Given the description of an element on the screen output the (x, y) to click on. 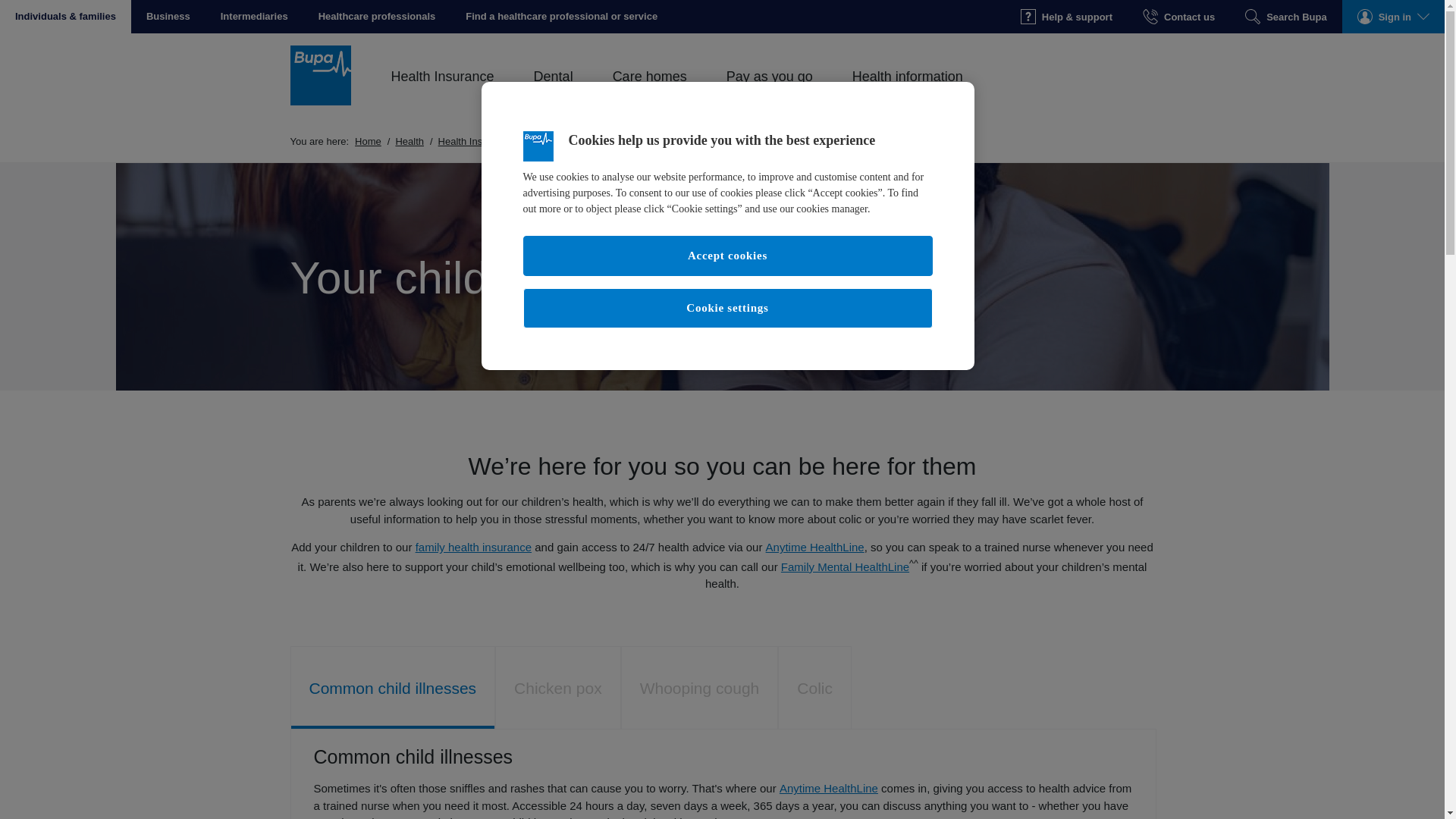
Care homes (649, 92)
Business (168, 16)
Search Bupa (1285, 16)
Find a healthcare professional or service (560, 16)
Health information (907, 92)
Healthcare professionals (376, 16)
Dental (553, 92)
Pay as you go (769, 92)
Contact us (1178, 16)
Intermediaries (253, 16)
Health Insurance (442, 92)
opens in a new window (560, 16)
